Given the description of an element on the screen output the (x, y) to click on. 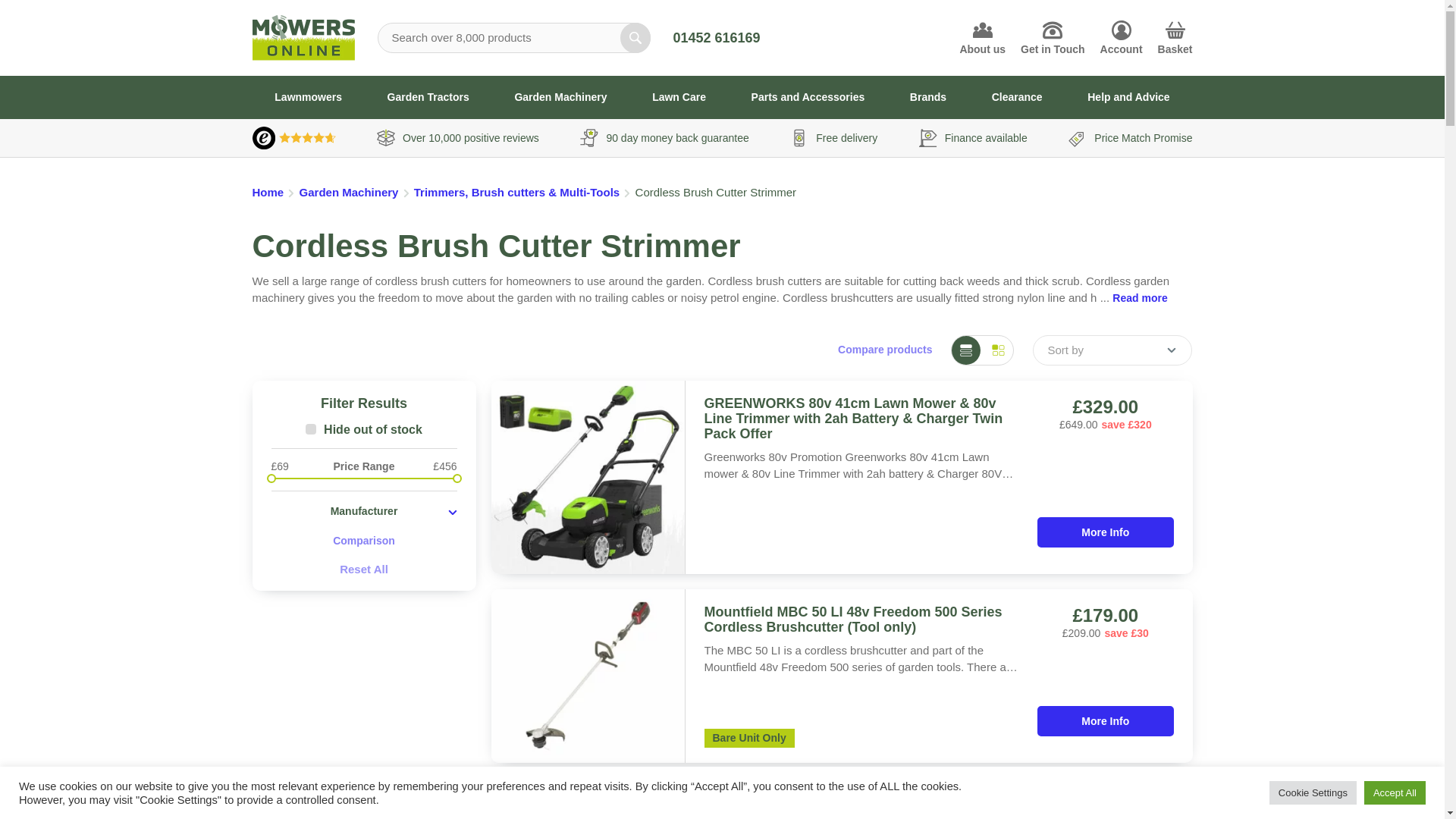
Basket (1174, 37)
Lawnmowers (307, 97)
toggle (363, 510)
search (635, 37)
About us (982, 37)
Get in Touch (1052, 37)
